Given the description of an element on the screen output the (x, y) to click on. 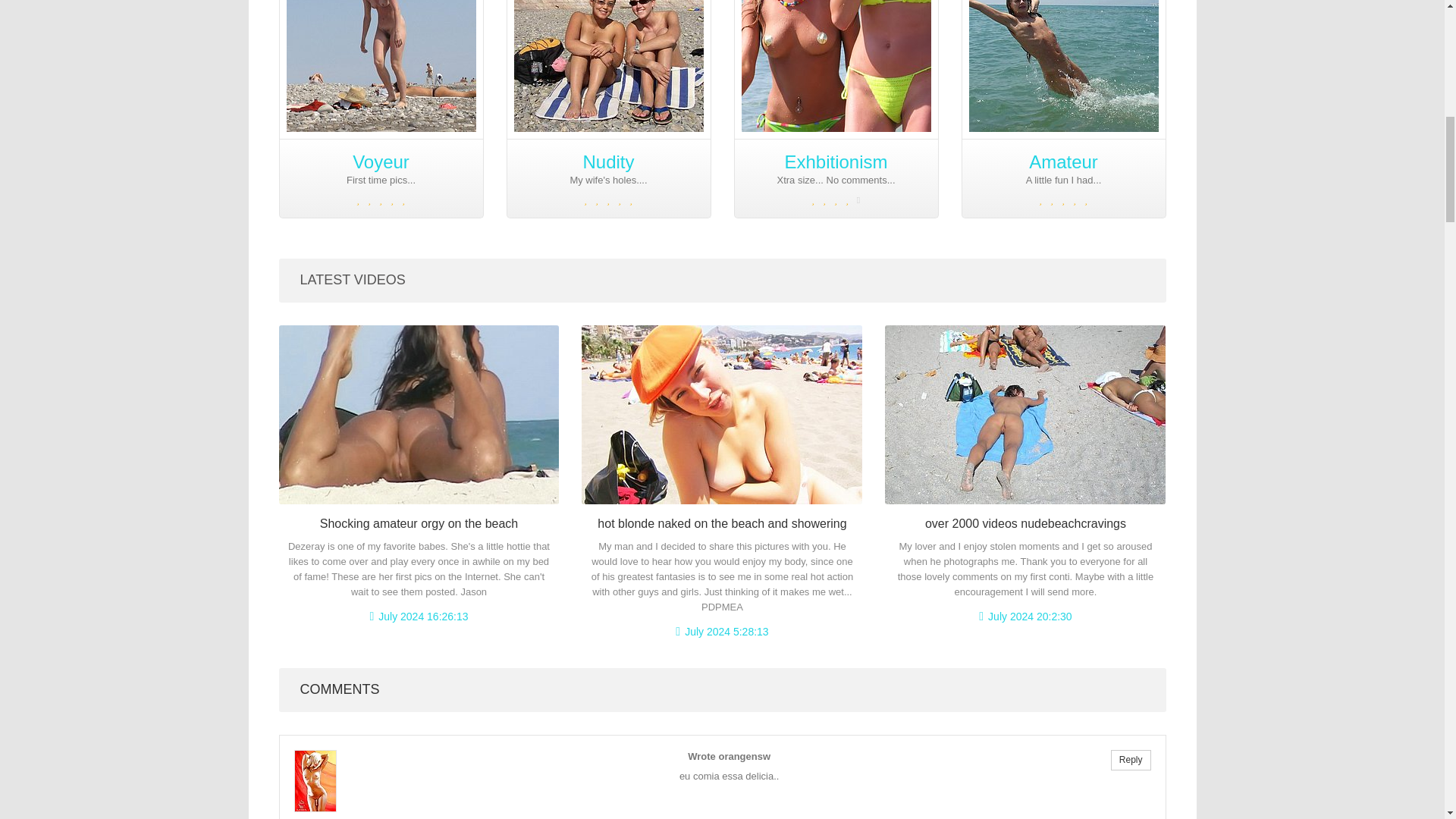
over 2000 videos nudebeachcravings (1024, 522)
LATEST VIDEOS (352, 279)
SUNTAN (553, 20)
Reply (1130, 760)
hot blonde naked on the beach and showering (720, 522)
YOUNG (1008, 20)
Shocking amateur orgy on the beach (419, 522)
VOYEURISM (781, 20)
GIRLS (326, 20)
